Given the description of an element on the screen output the (x, y) to click on. 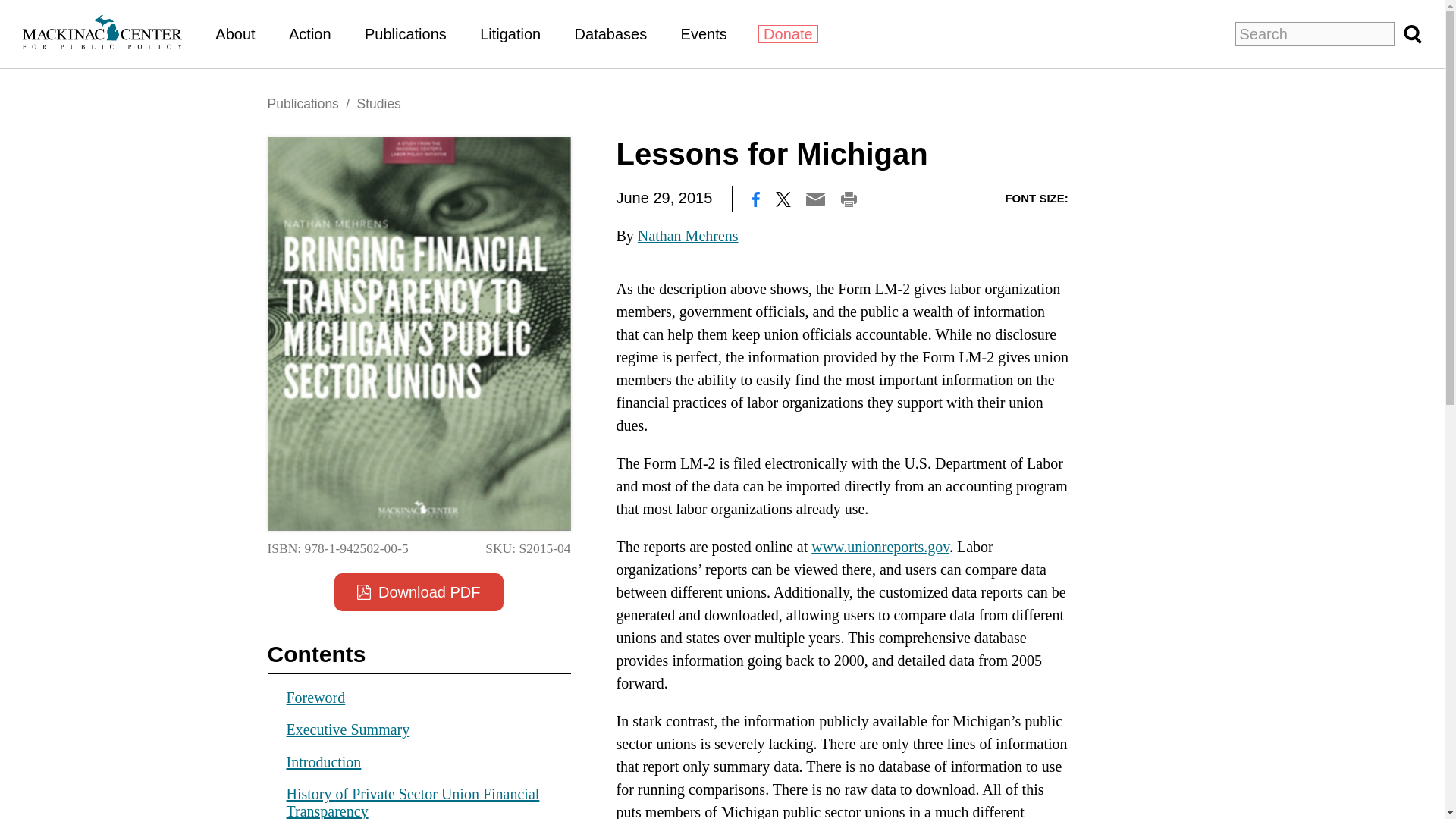
Publications (405, 33)
Executive Summary (348, 729)
Action (309, 33)
Download PDF (418, 591)
Databases (611, 33)
Studies (378, 103)
Donate (788, 34)
Litigation (510, 33)
www.unionreports.gov (879, 546)
Publications (301, 103)
About (234, 33)
Foreword (316, 696)
Events (703, 33)
History of Private Sector Union Financial Transparency (413, 802)
Nathan Mehrens (687, 235)
